Given the description of an element on the screen output the (x, y) to click on. 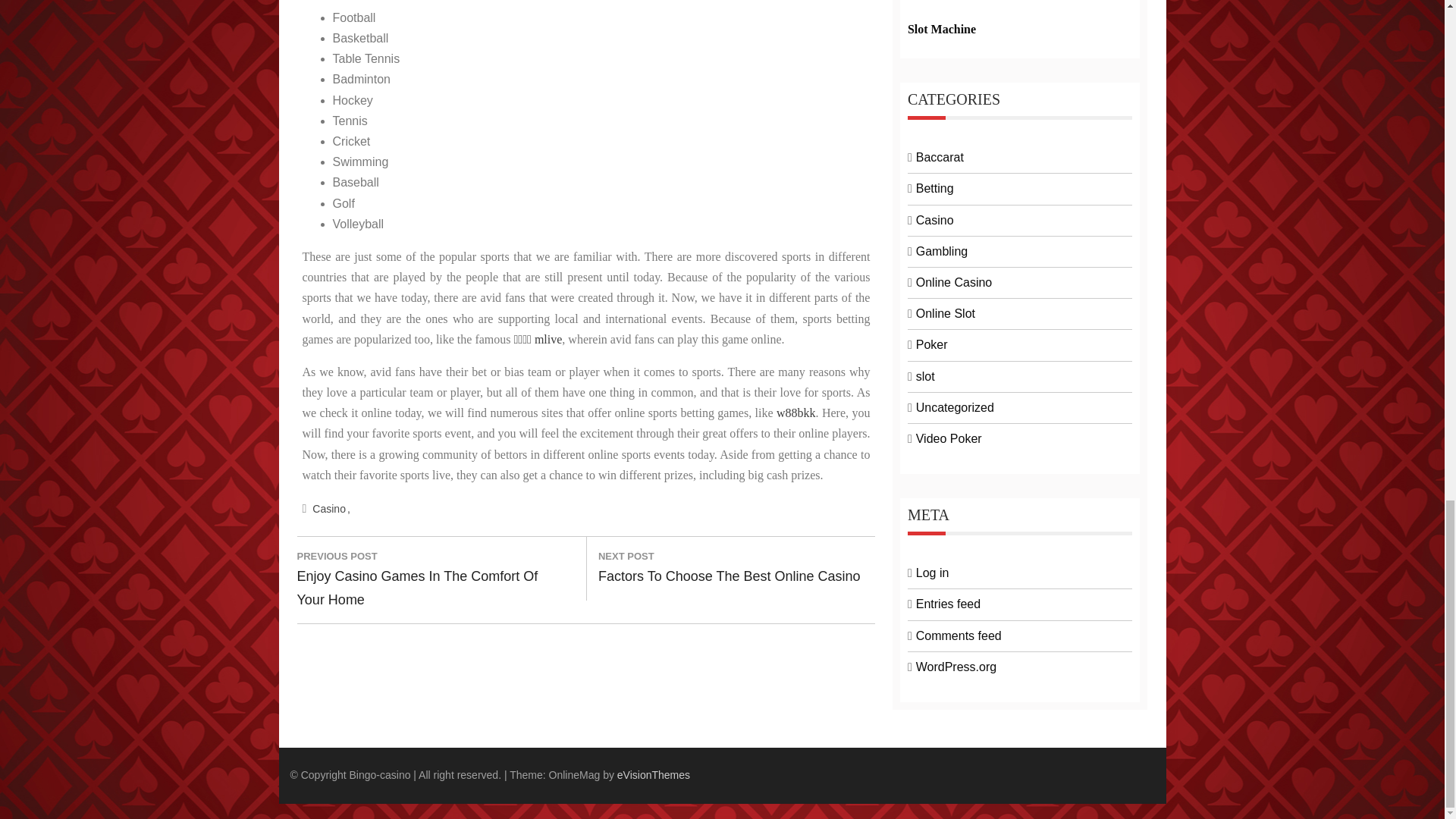
w88bkk (795, 412)
Casino (330, 509)
